Given the description of an element on the screen output the (x, y) to click on. 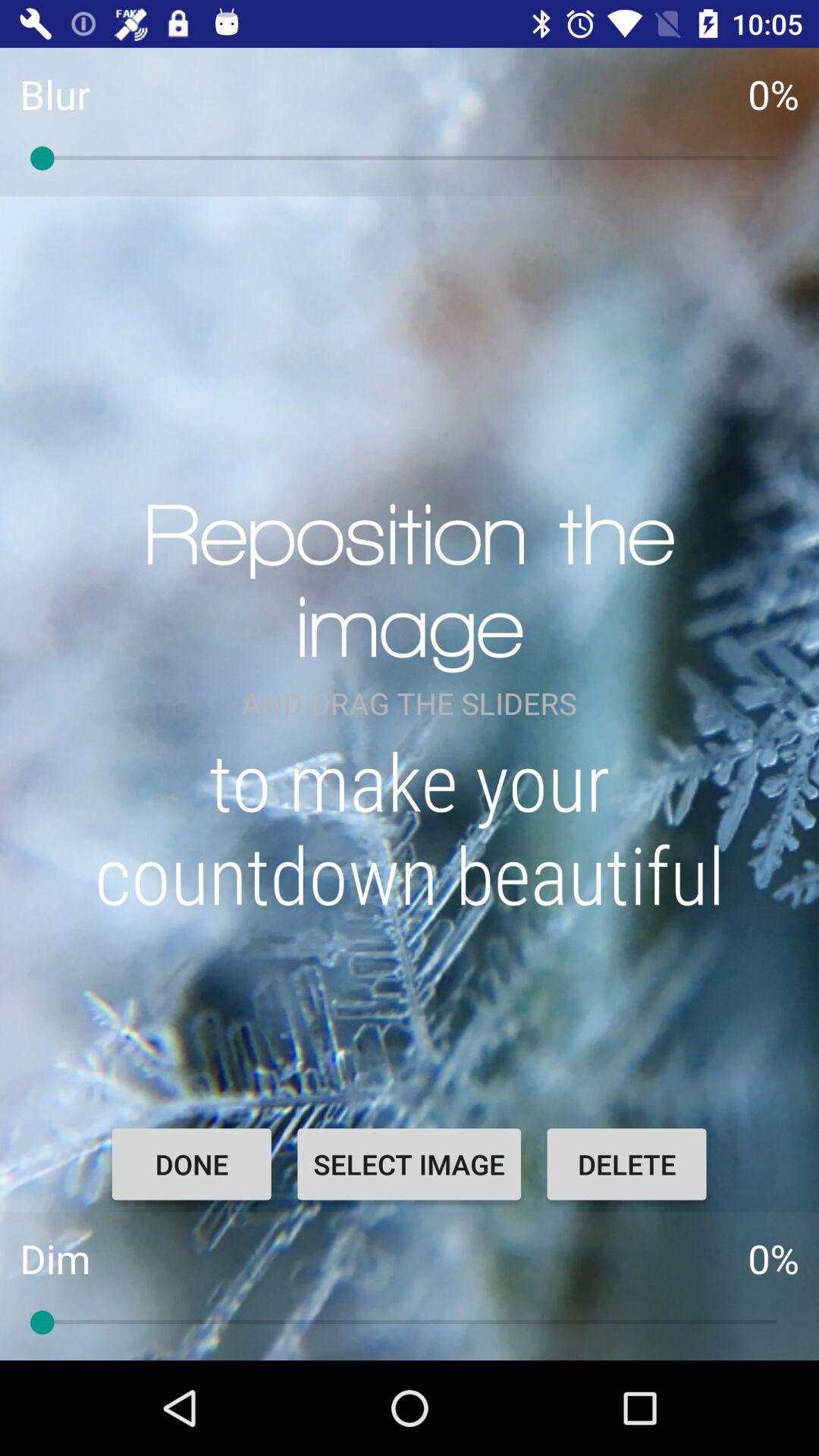
turn on the delete (626, 1164)
